Given the description of an element on the screen output the (x, y) to click on. 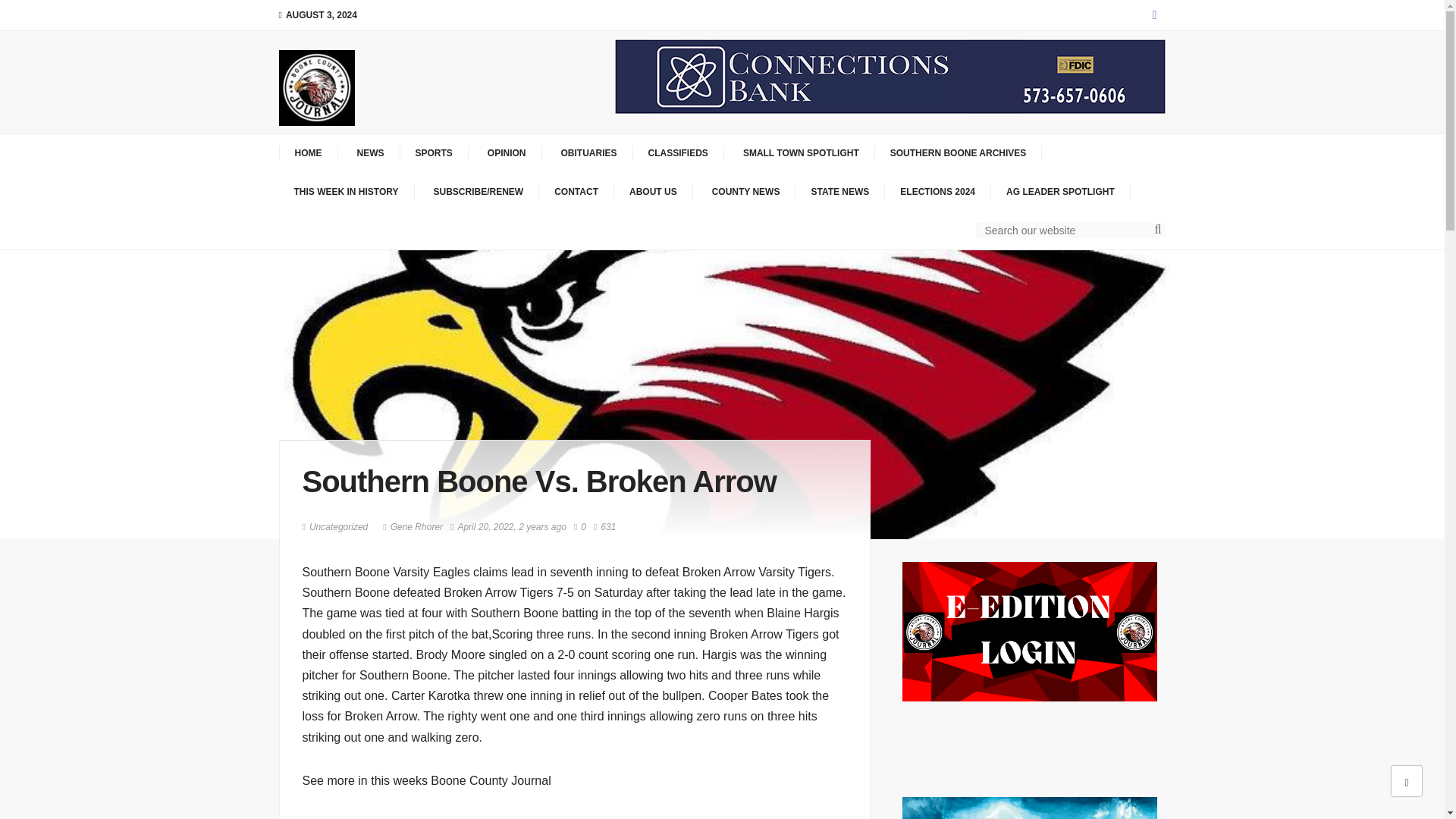
NEWS (368, 152)
SOUTHERN BOONE ARCHIVES (958, 152)
OPINION (504, 152)
CLASSIFIEDS (678, 152)
ELECTIONS 2024 (938, 191)
SMALL TOWN SPOTLIGHT (799, 152)
OBITUARIES (587, 152)
ABOUT US (653, 191)
CONTACT (576, 191)
THIS WEEK IN HISTORY (346, 191)
STATE NEWS (839, 191)
HOME (308, 152)
SPORTS (434, 152)
AG LEADER SPOTLIGHT (1061, 191)
COUNTY NEWS (744, 191)
